Given the description of an element on the screen output the (x, y) to click on. 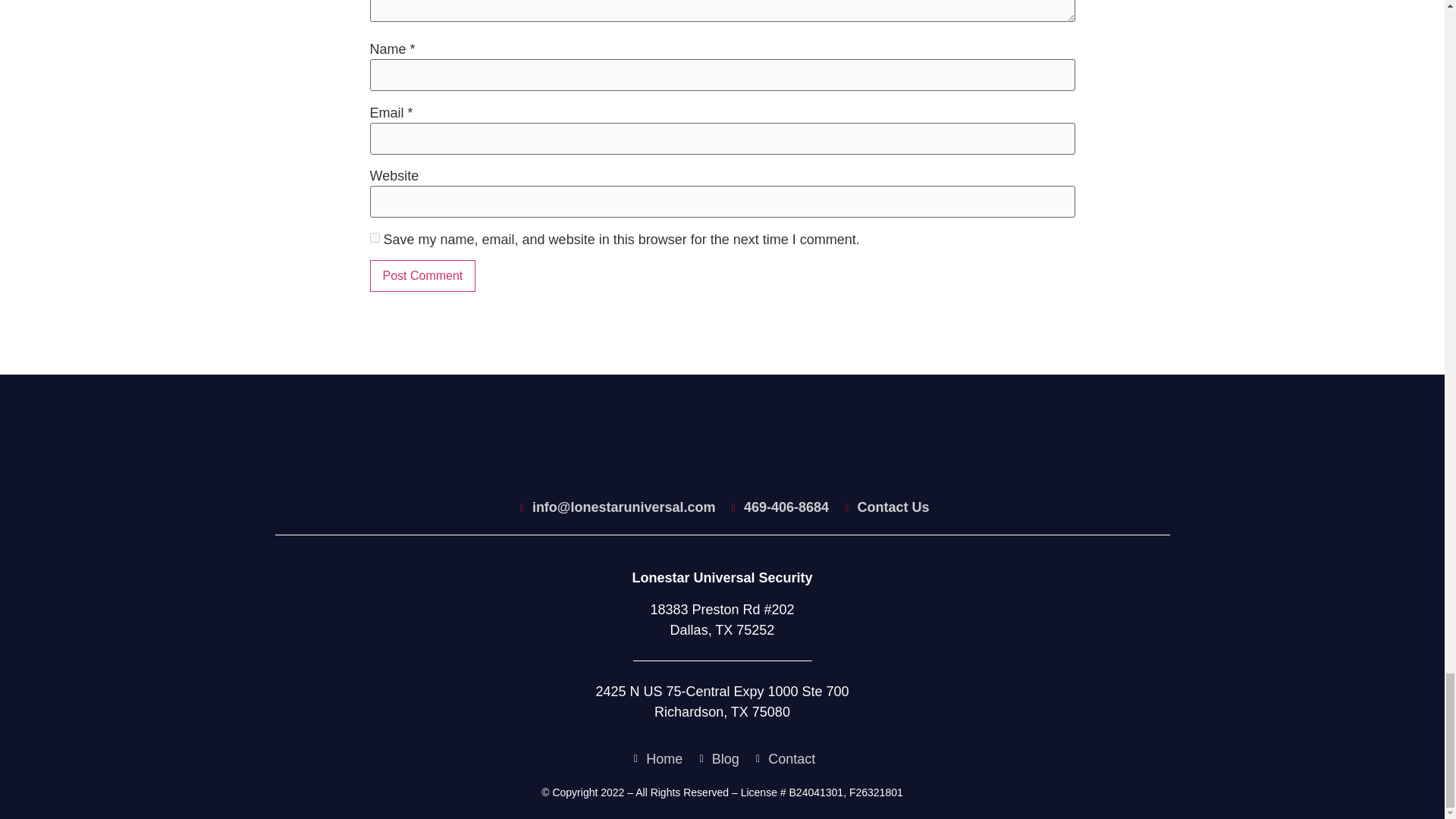
yes (374, 237)
Post Comment (422, 275)
lonestar-logo (722, 449)
